Given the description of an element on the screen output the (x, y) to click on. 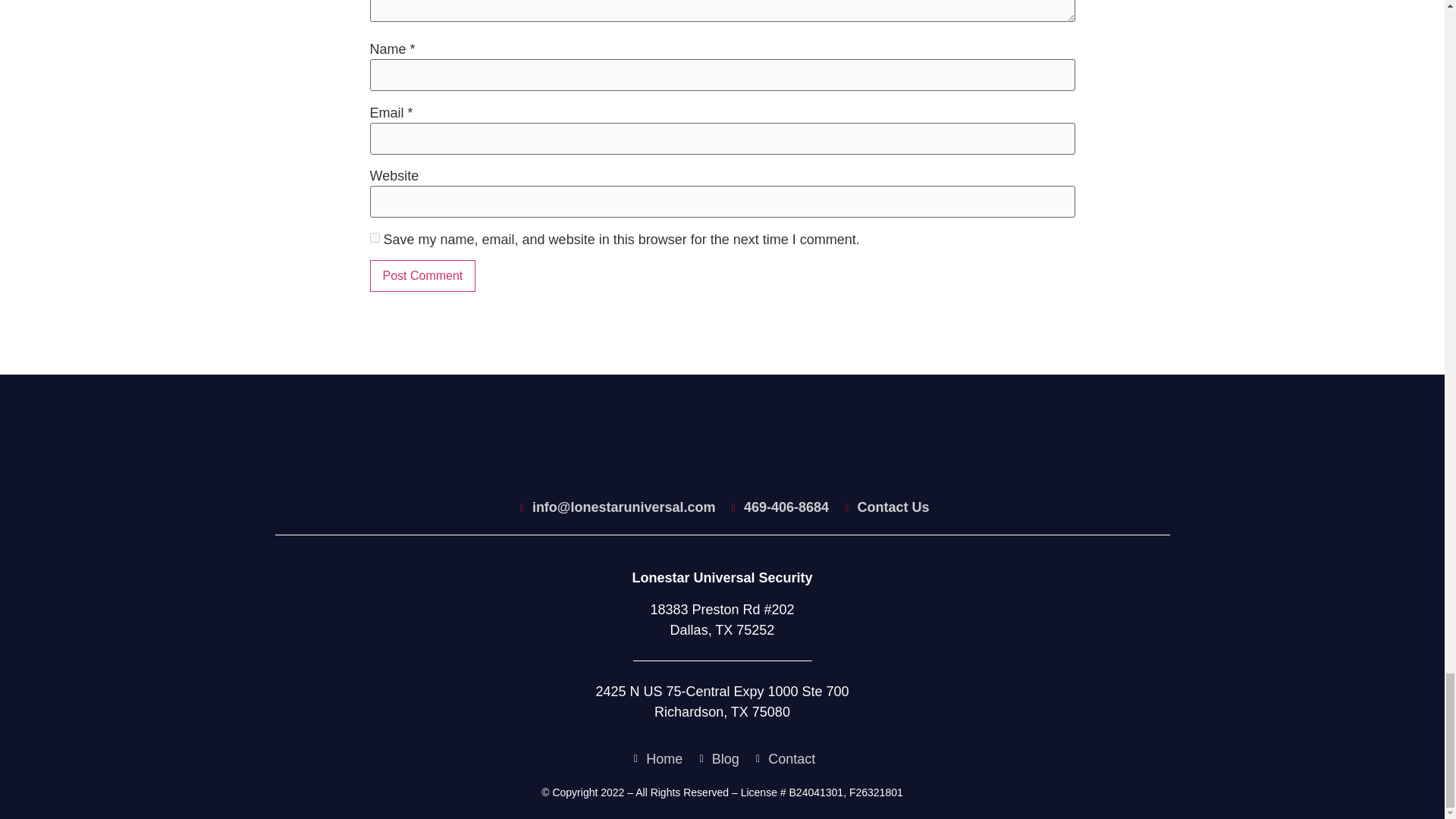
yes (374, 237)
Post Comment (422, 275)
lonestar-logo (722, 449)
